Given the description of an element on the screen output the (x, y) to click on. 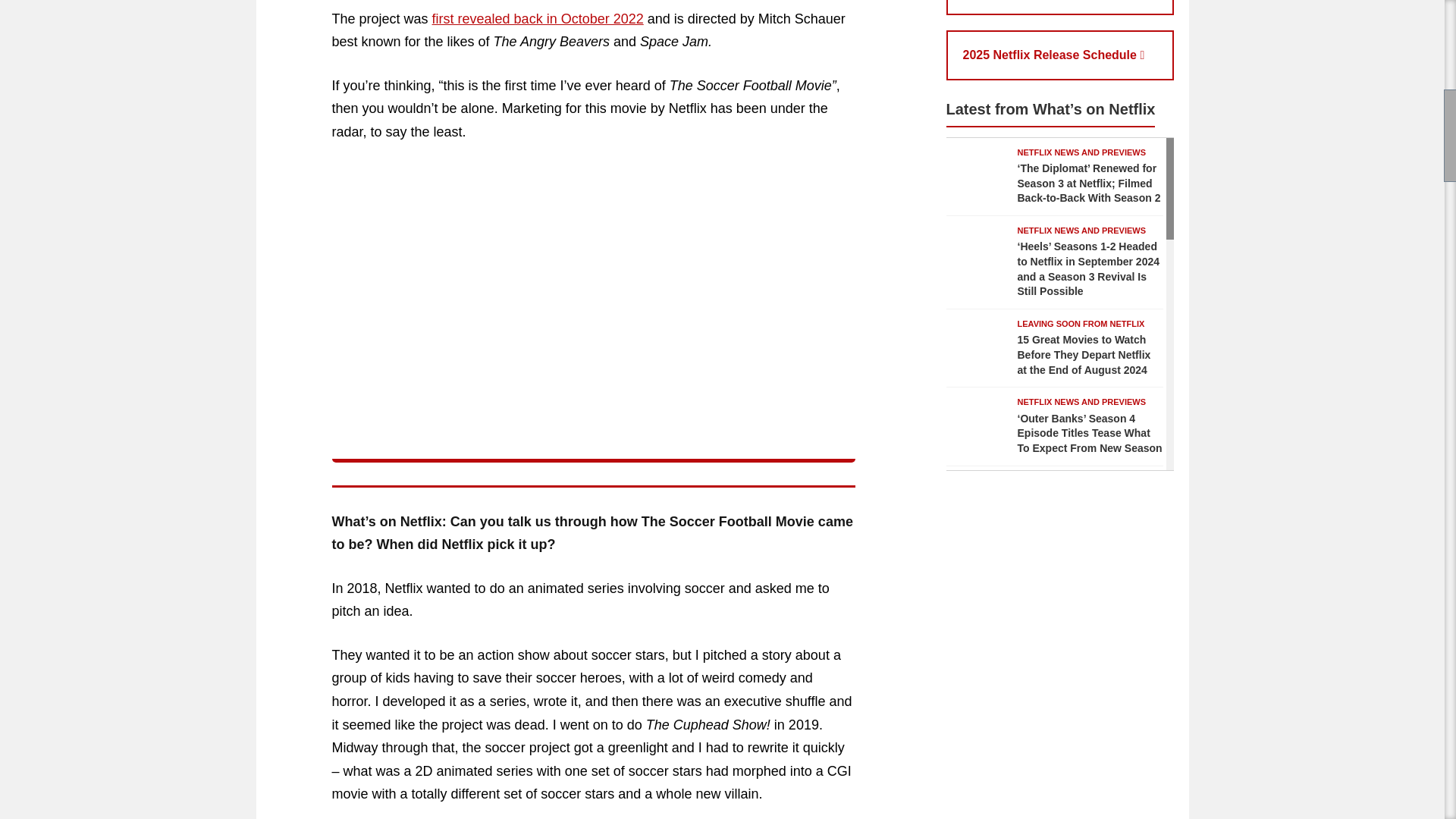
NETFLIX NEWS AND PREVIEWS (1082, 151)
first revealed back in October 2022 (537, 18)
2025 Netflix Release Schedule (1059, 55)
2024 Netflix Release Schedule (1059, 7)
2025 Netflix Release Schedule (1059, 55)
2024 Netflix Release Schedule (1059, 7)
